Given the description of an element on the screen output the (x, y) to click on. 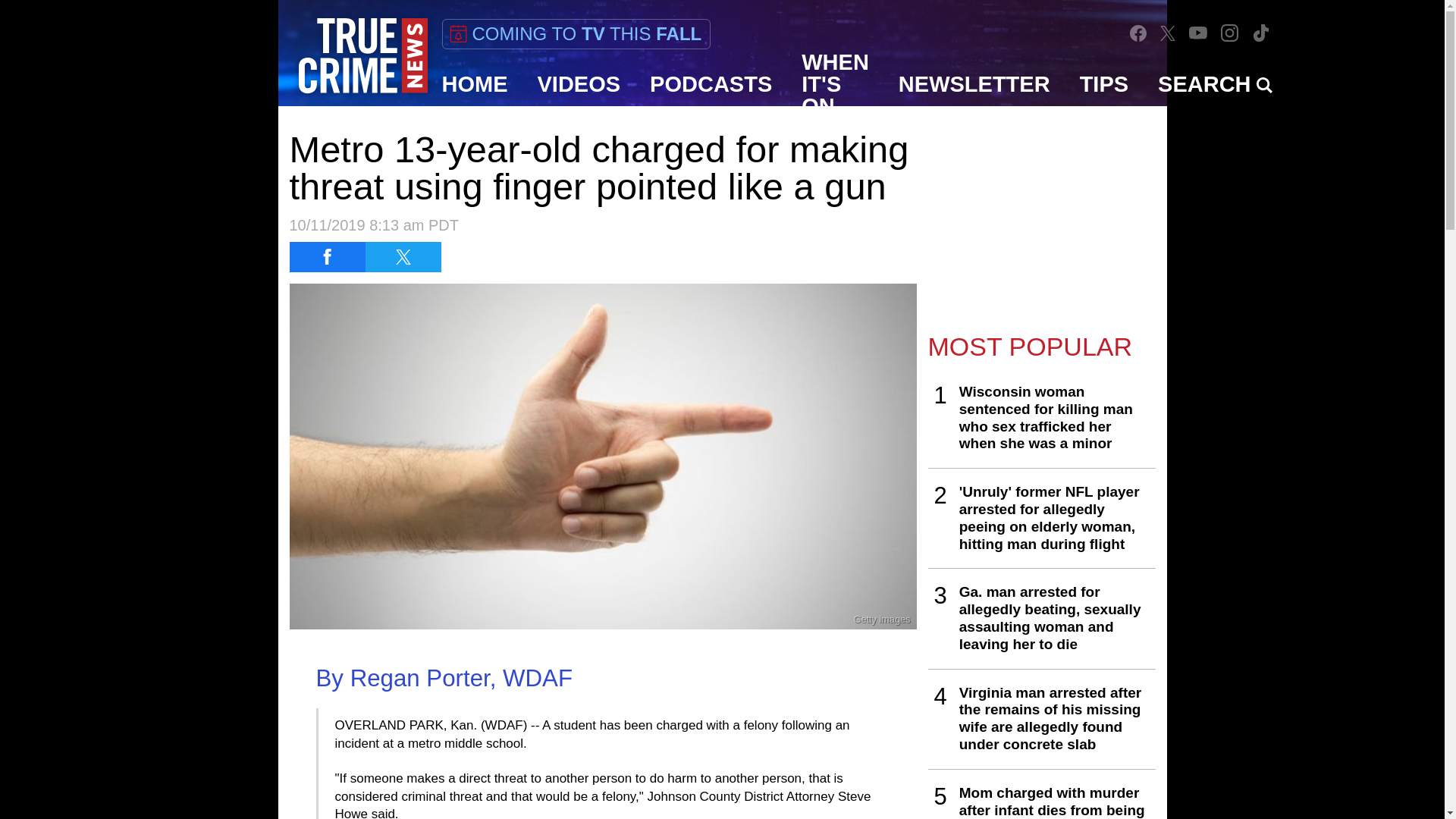
Twitter (1167, 32)
Facebook (1138, 32)
PODCASTS (710, 84)
3rd party ad content (1042, 214)
NEWSLETTER (974, 84)
Instagram (1229, 32)
COMING TO TV THIS FALL (575, 33)
YouTube (1198, 32)
3rd party ad content (721, 785)
TikTok (1260, 32)
